Given the description of an element on the screen output the (x, y) to click on. 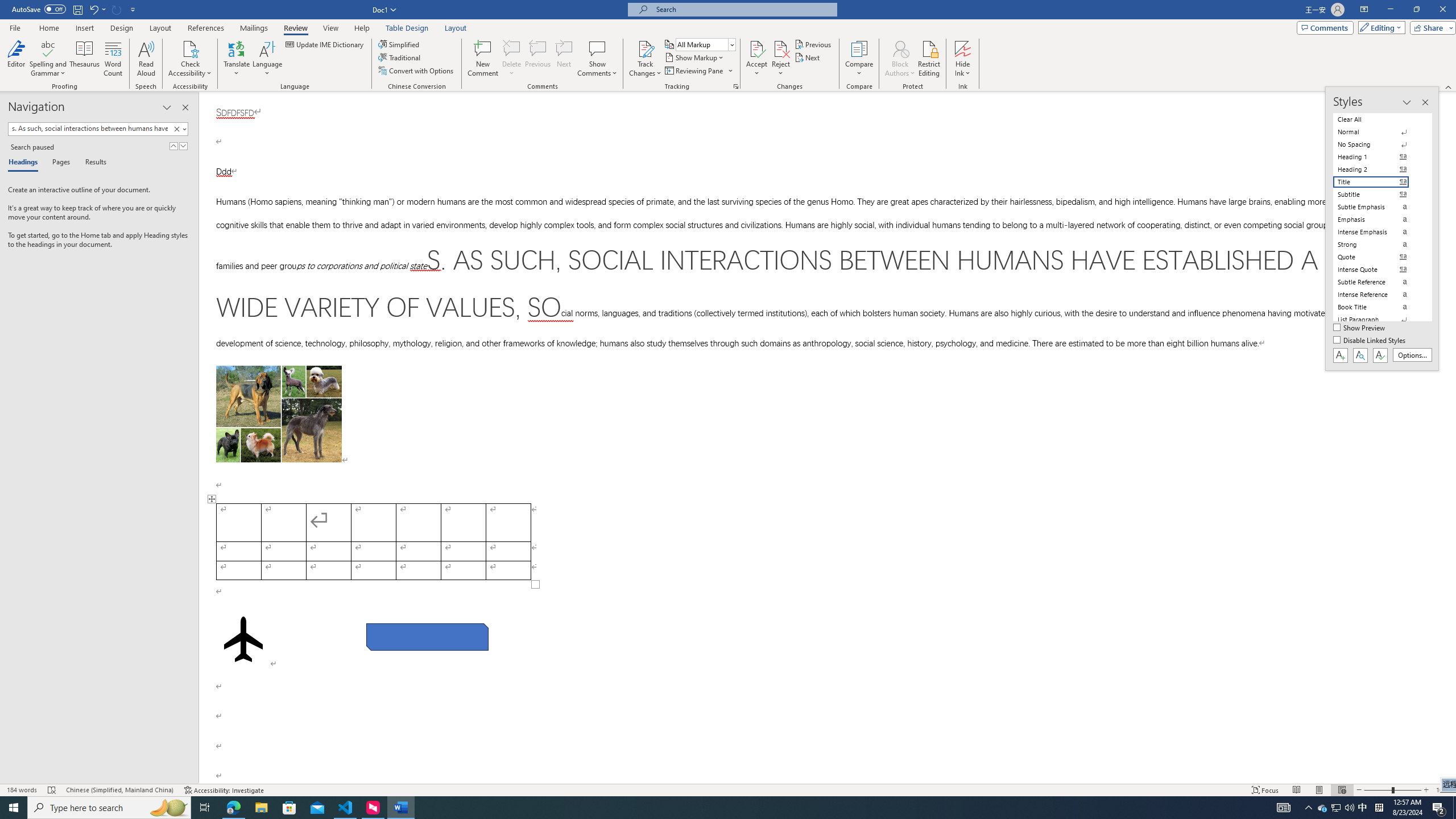
Airplane with solid fill (242, 638)
Restrict Editing (929, 58)
Word Count 184 words (22, 790)
Can't Repeat (117, 9)
Show Comments (597, 58)
Display for Review (705, 44)
Disable Linked Styles (1370, 340)
Hide Ink (962, 48)
Normal (1377, 131)
